Given the description of an element on the screen output the (x, y) to click on. 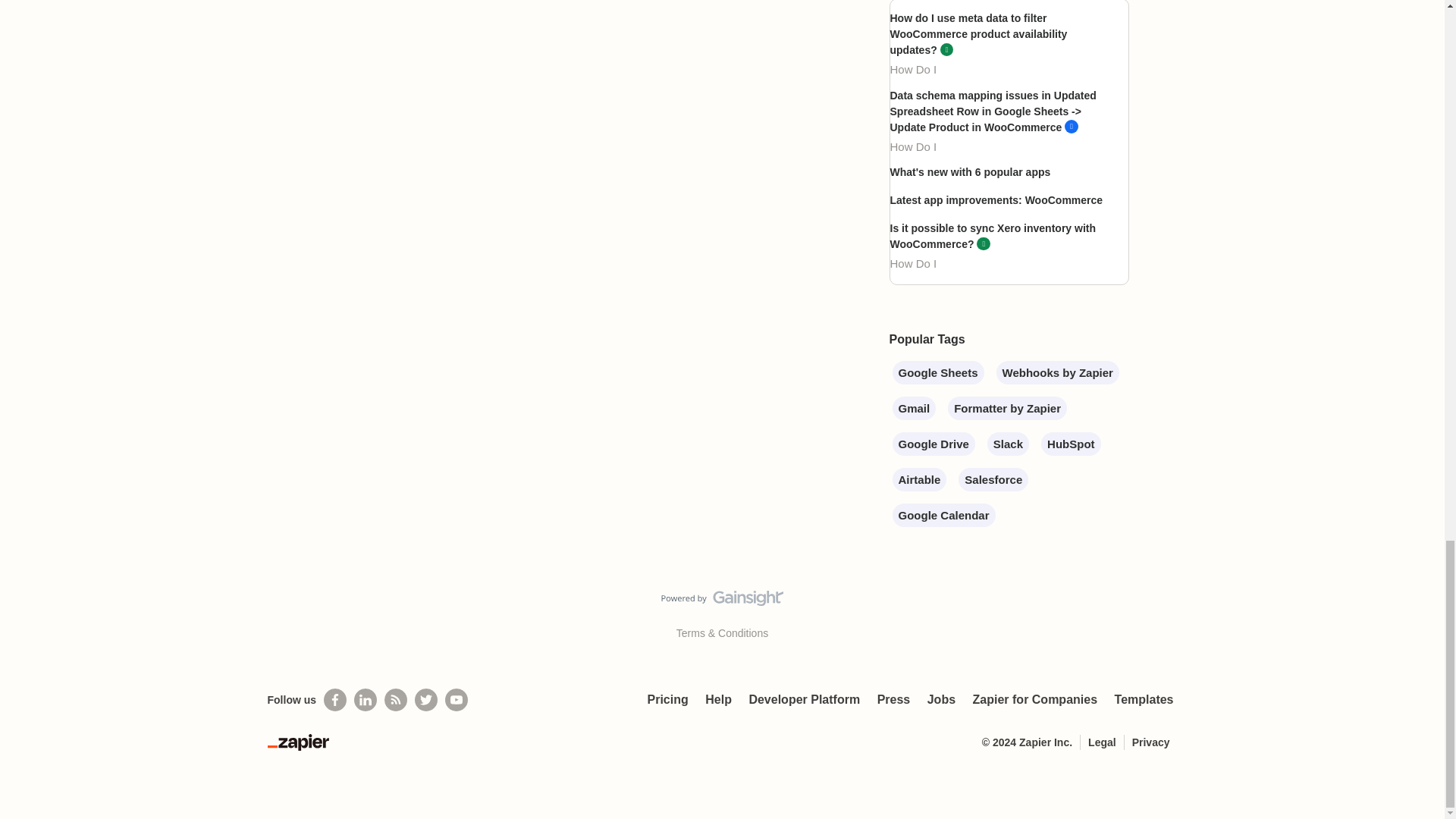
Follow us on LinkedIn (365, 699)
Subscribe to our blog (395, 699)
See helpful Zapier videos on Youtube (456, 699)
Visit Gainsight.com (722, 601)
Follow us on Facebook (334, 699)
